Given the description of an element on the screen output the (x, y) to click on. 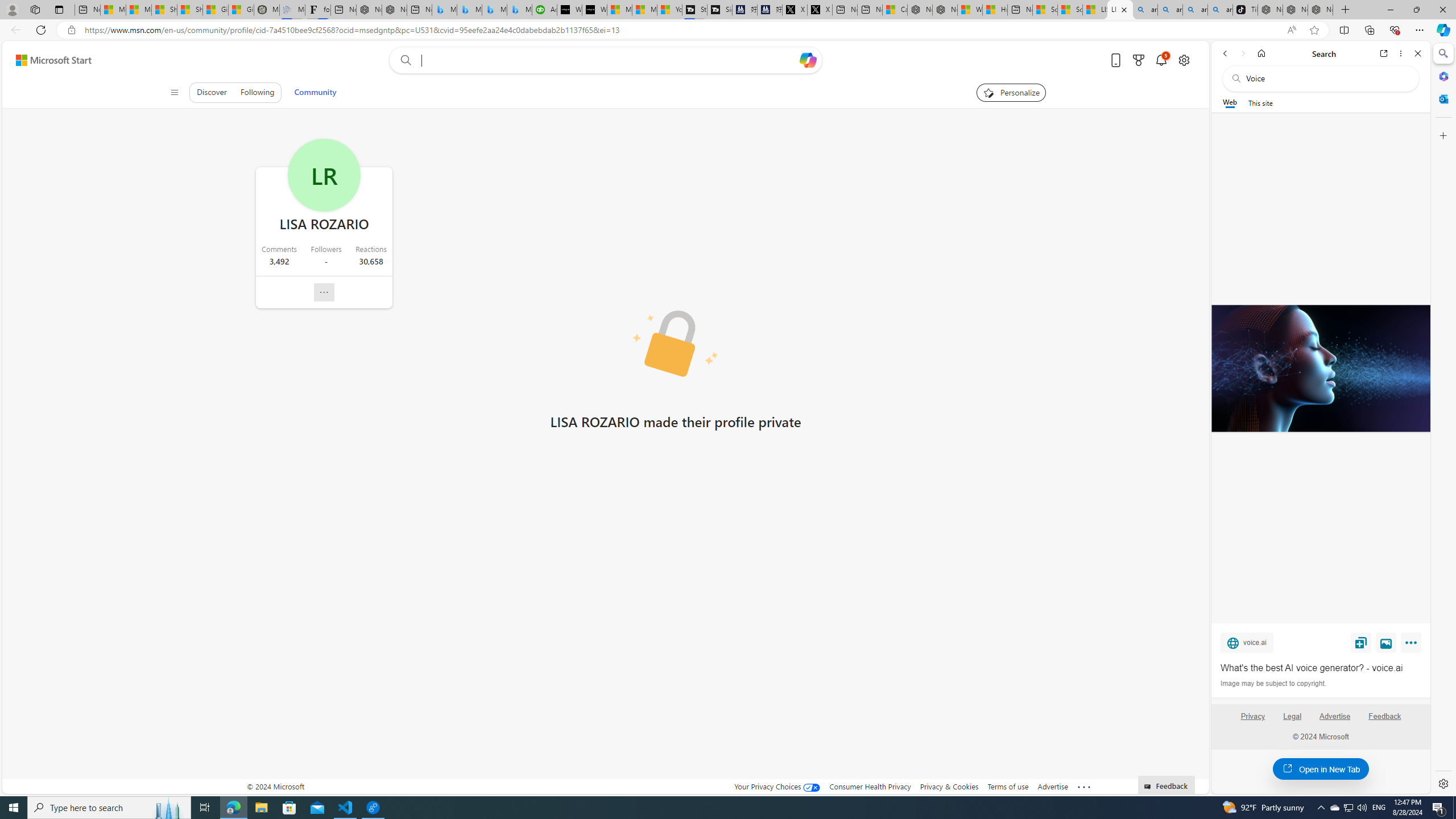
Class: control icon-only (174, 92)
Web scope (1230, 102)
Open in New Tab (1321, 768)
Skip to content (49, 59)
amazon - Search Images (1219, 9)
Huge shark washes ashore at New York City beach | Watch (993, 9)
What's the best AI voice generator? - voice.ai (593, 9)
